Given the description of an element on the screen output the (x, y) to click on. 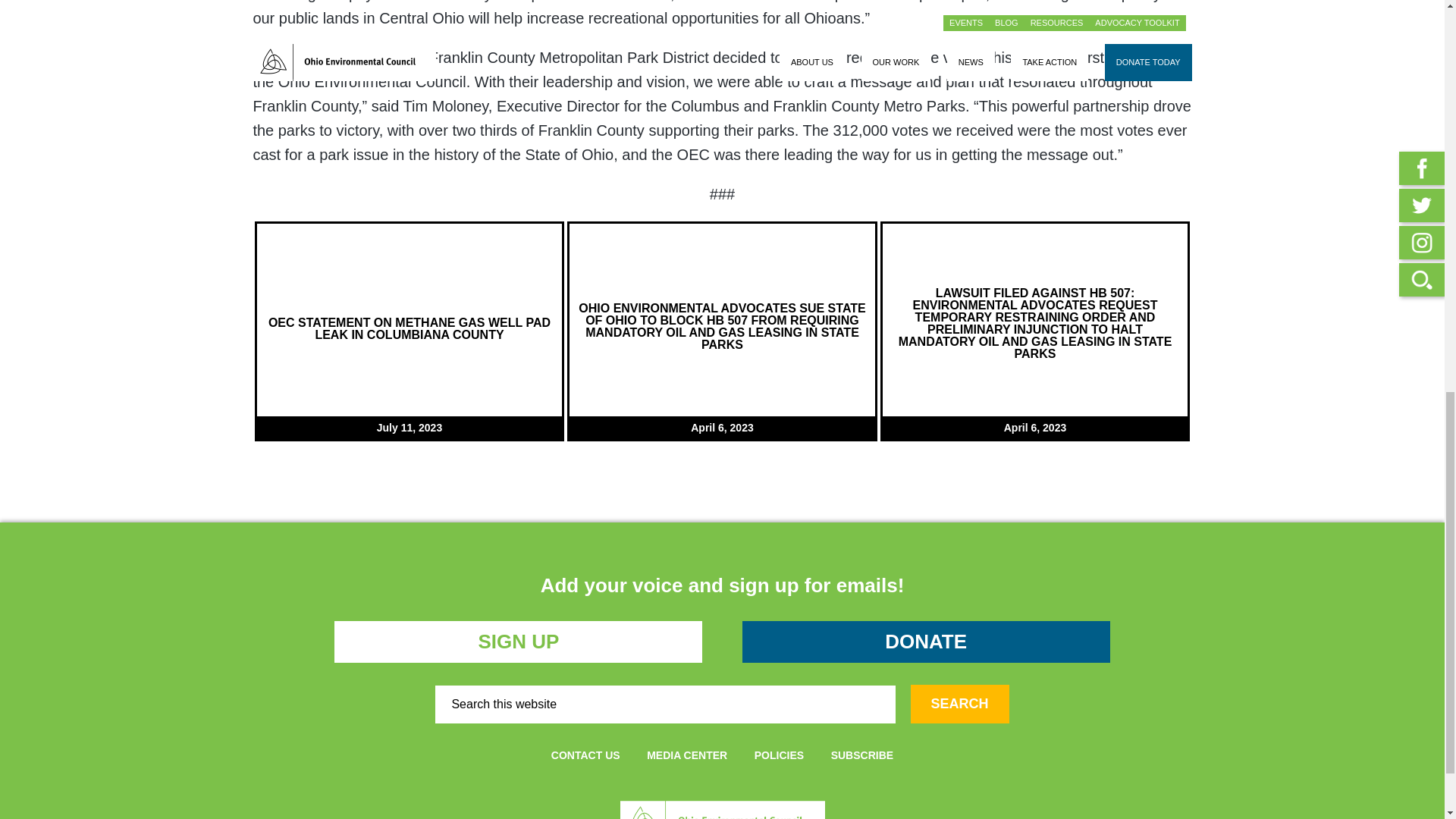
Search (960, 703)
DONATE (925, 641)
Search (960, 703)
SIGN UP (517, 640)
SIGN UP (517, 641)
DONATE (924, 640)
CONTACT US (585, 755)
